Given the description of an element on the screen output the (x, y) to click on. 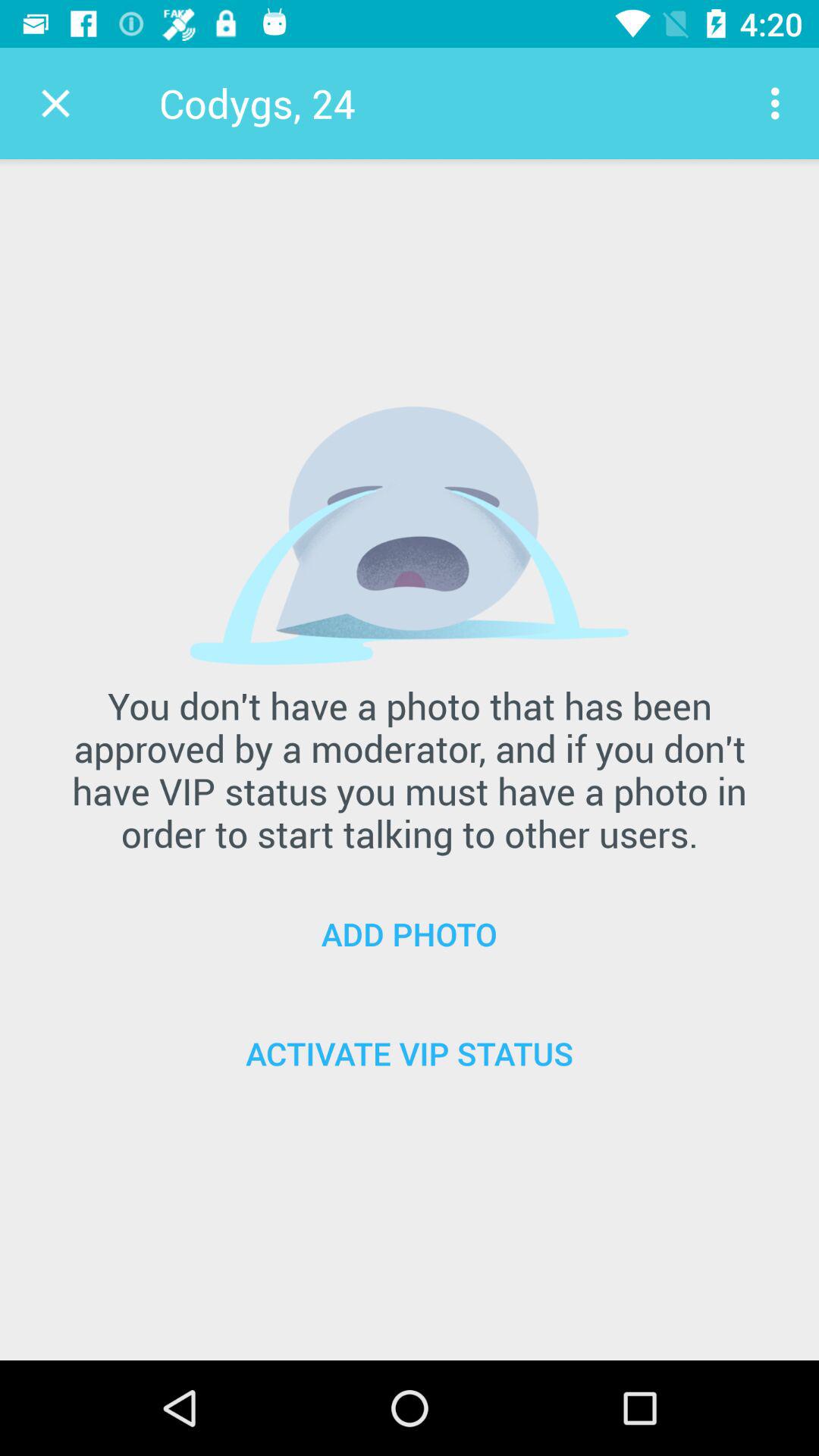
turn off the icon below you don t (409, 933)
